Given the description of an element on the screen output the (x, y) to click on. 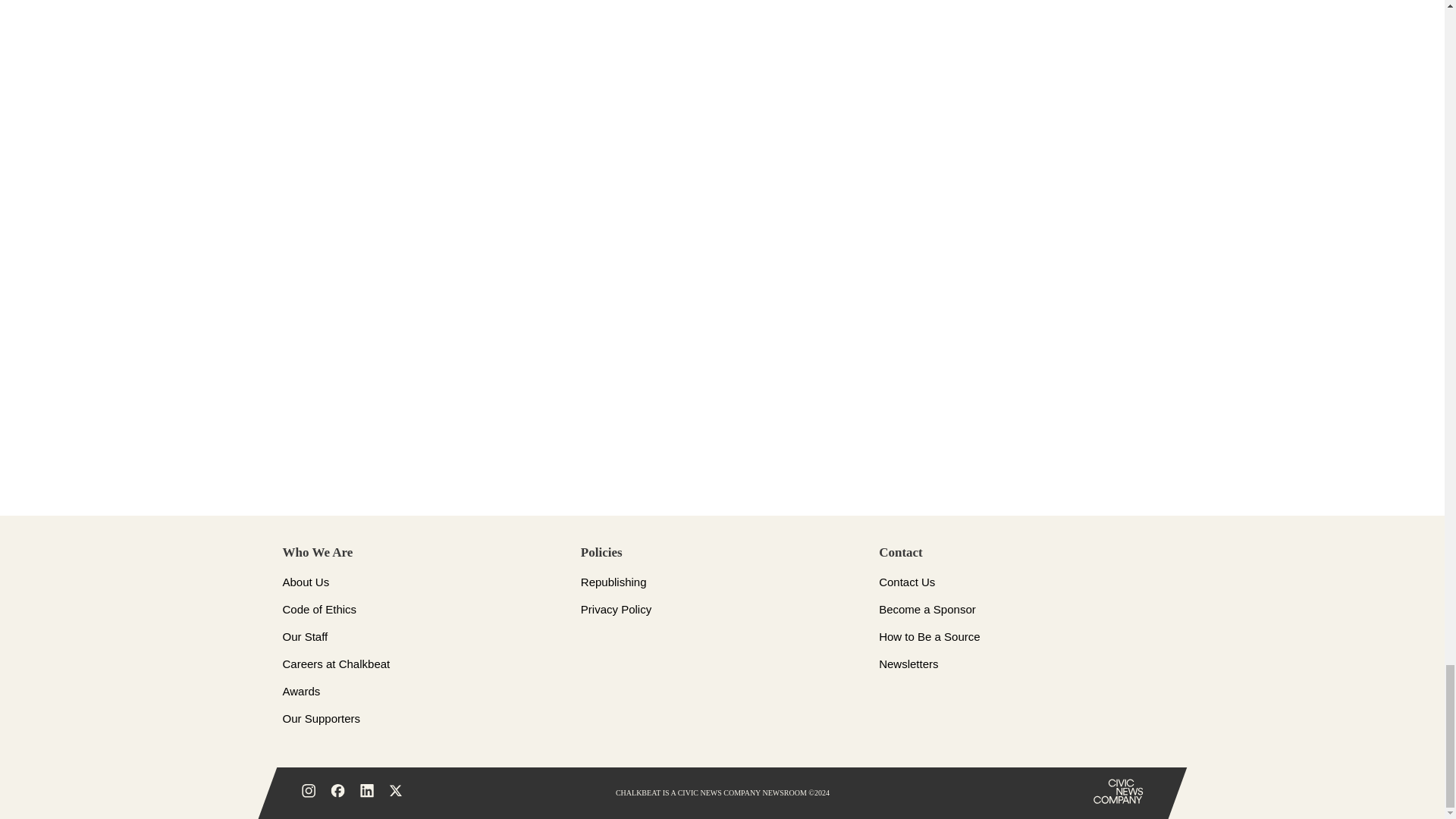
Become a Sponsor (927, 608)
Our Staff (304, 635)
Privacy Policy (615, 608)
Awards (301, 690)
Contact Us (906, 581)
Our Supporters (320, 717)
Careers at Chalkbeat (336, 663)
Code of Ethics (319, 608)
Republishing (613, 581)
How to Be a Source (929, 635)
